Given the description of an element on the screen output the (x, y) to click on. 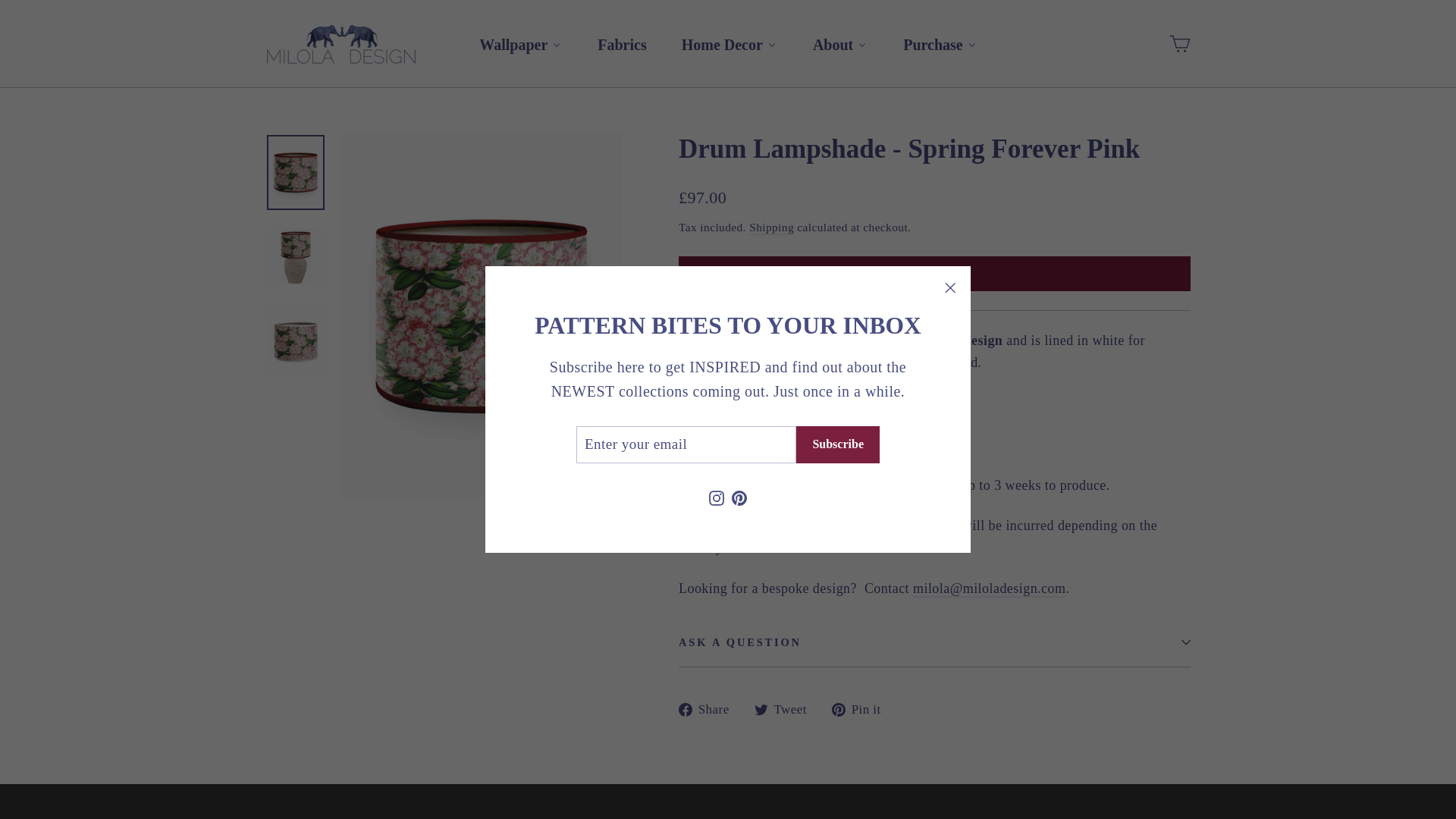
icon-cart (1180, 43)
Pin on Pinterest (861, 709)
Share on Facebook (709, 709)
Tweet on Twitter (786, 709)
Milola Design on Pinterest (739, 496)
Milola Design on Instagram (716, 496)
icon-X (949, 287)
twitter (761, 709)
